Given the description of an element on the screen output the (x, y) to click on. 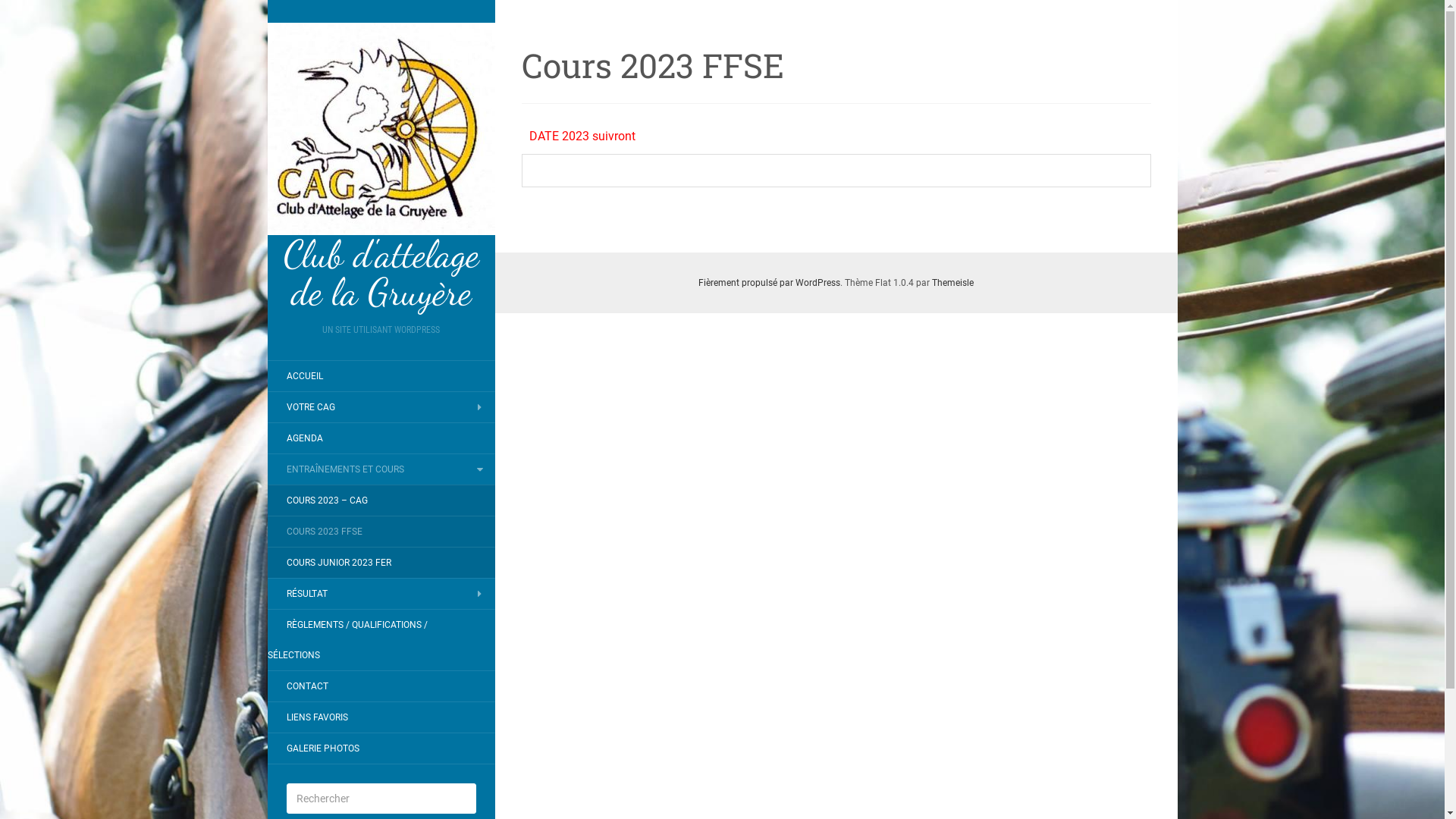
GALERIE PHOTOS Element type: text (321, 748)
COURS JUNIOR 2023 FER Element type: text (337, 562)
ACCUEIL Element type: text (303, 376)
AGENDA Element type: text (303, 438)
CONTACT Element type: text (306, 686)
Rechercher Element type: text (32, 10)
Themeisle Element type: text (952, 282)
COURS 2023 FFSE Element type: text (323, 531)
VOTRE CAG Element type: text (309, 407)
LIENS FAVORIS Element type: text (316, 717)
